Given the description of an element on the screen output the (x, y) to click on. 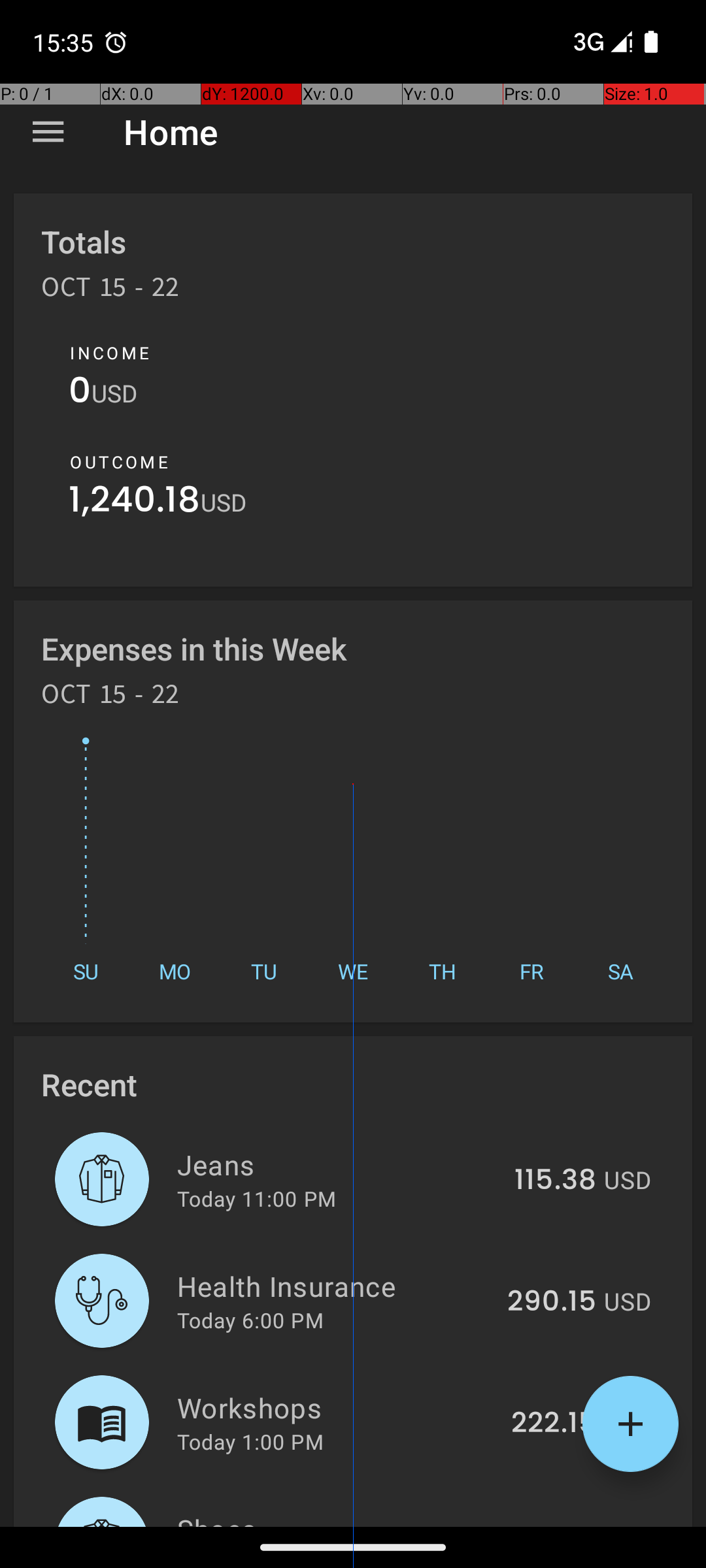
1,240.18 Element type: android.widget.TextView (134, 502)
